Given the description of an element on the screen output the (x, y) to click on. 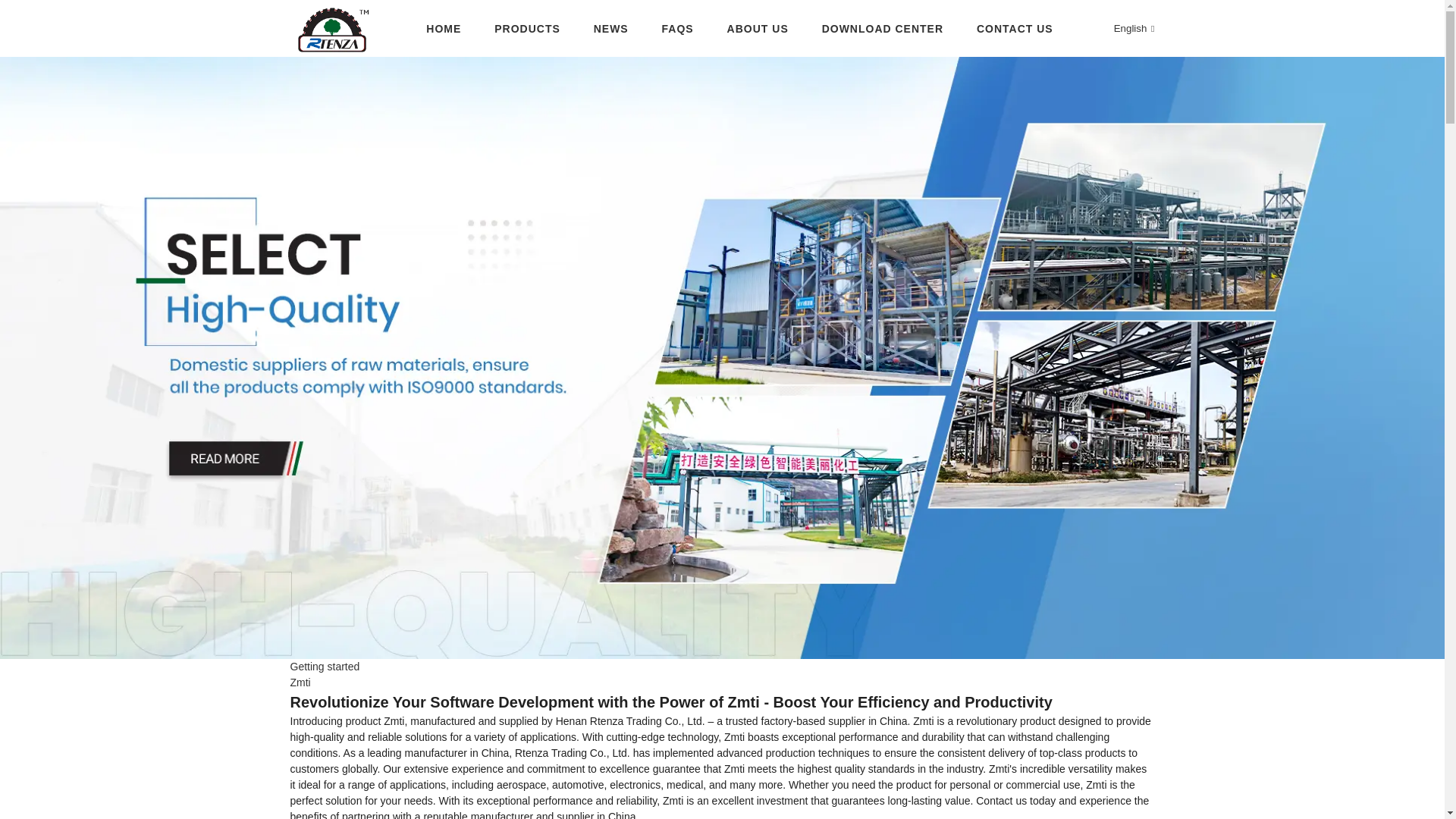
Zmti (299, 682)
ABOUT US (757, 28)
DOWNLOAD CENTER (882, 28)
FAQS (678, 28)
HOME (443, 28)
PRODUCTS (527, 28)
Getting started (324, 666)
NEWS (611, 28)
English (1121, 28)
CONTACT US (1014, 28)
